Given the description of an element on the screen output the (x, y) to click on. 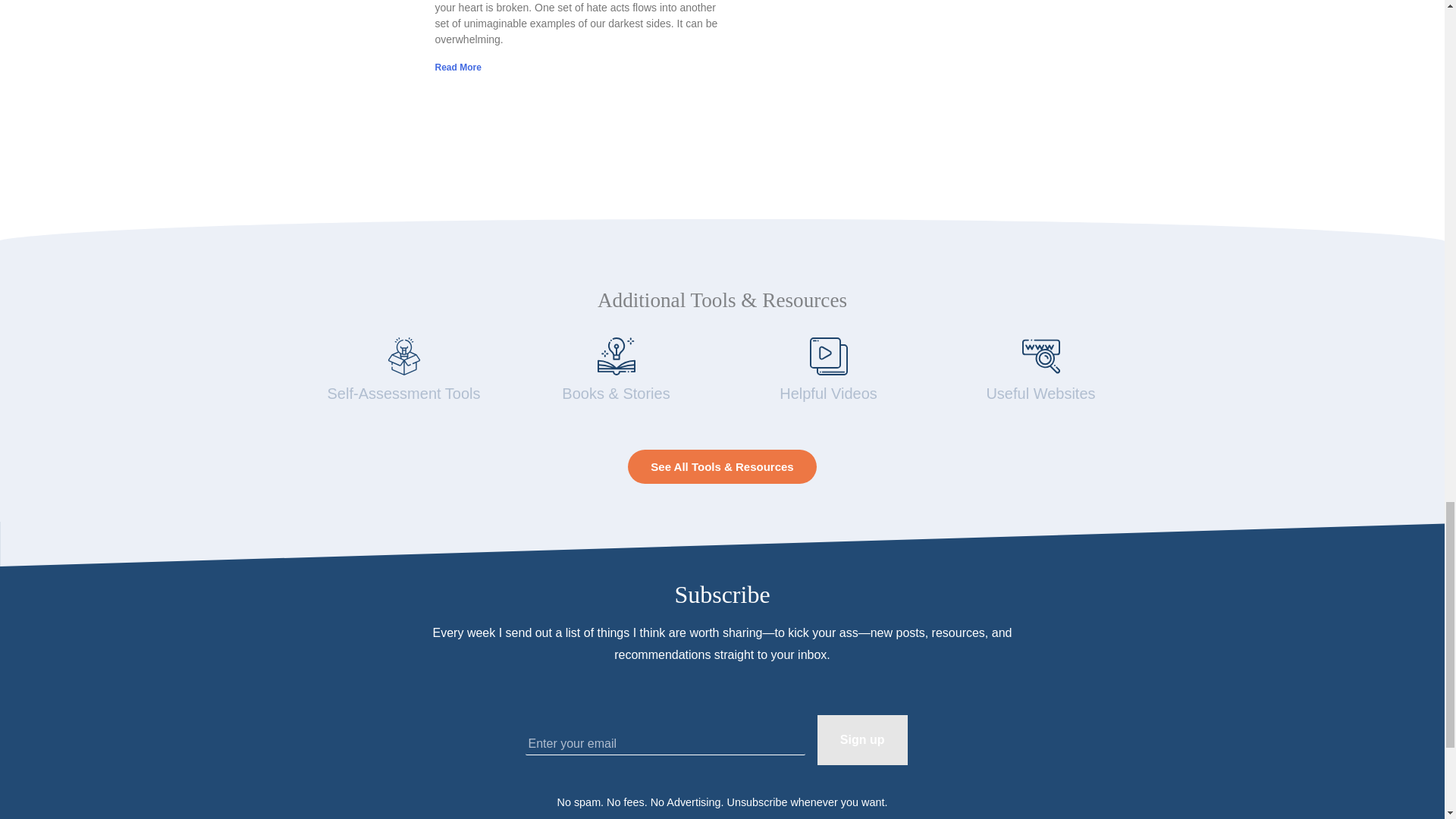
Sign up (861, 739)
